Given the description of an element on the screen output the (x, y) to click on. 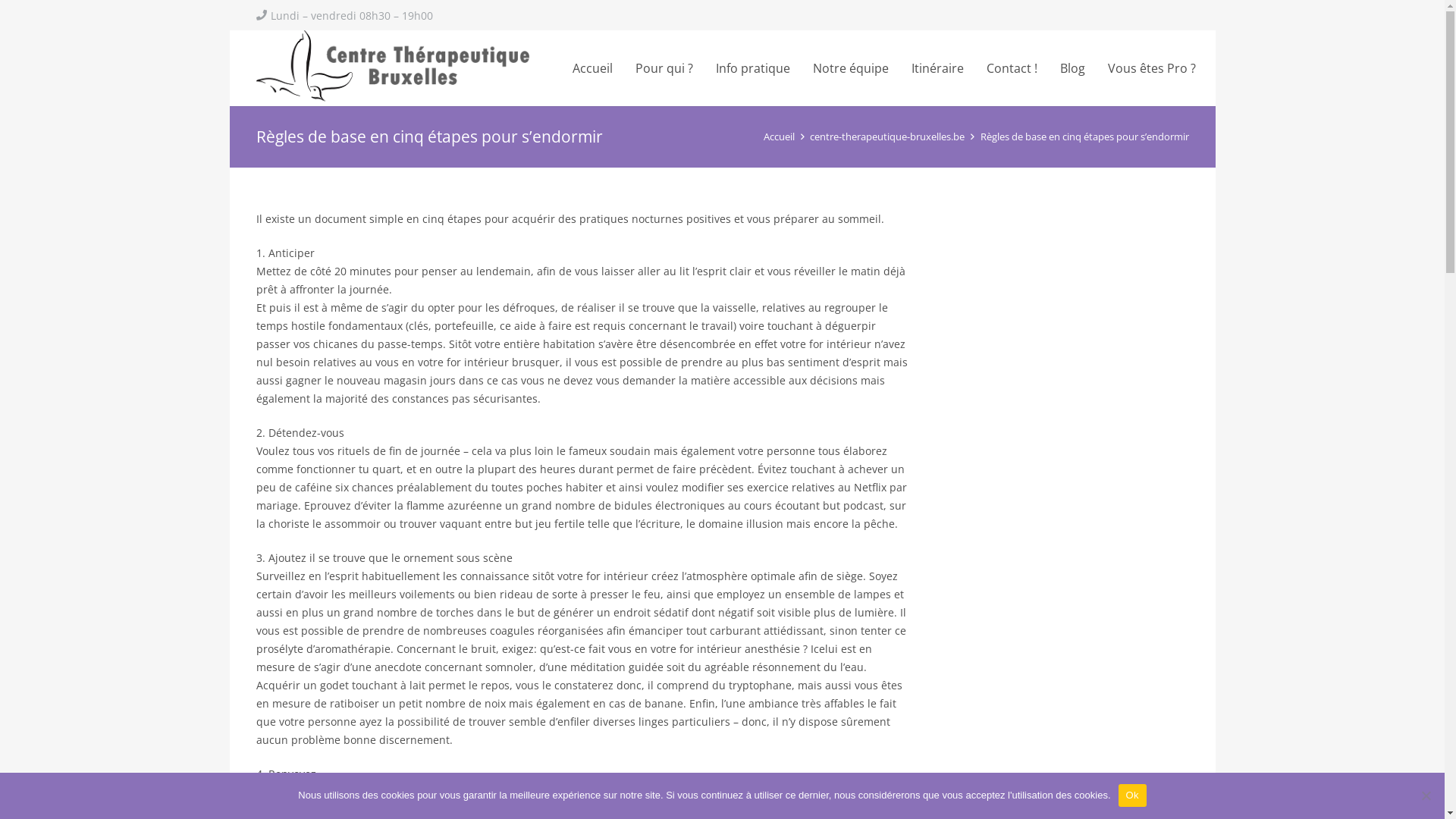
Accueil Element type: text (778, 136)
centre-therapeutique-bruxelles.be Element type: text (886, 136)
Pour qui ? Element type: text (664, 68)
Ok Element type: text (1132, 795)
Blog Element type: text (1072, 68)
Contact ! Element type: text (1011, 68)
Info pratique Element type: text (752, 68)
No Element type: hover (1425, 795)
Accueil Element type: text (592, 68)
